Given the description of an element on the screen output the (x, y) to click on. 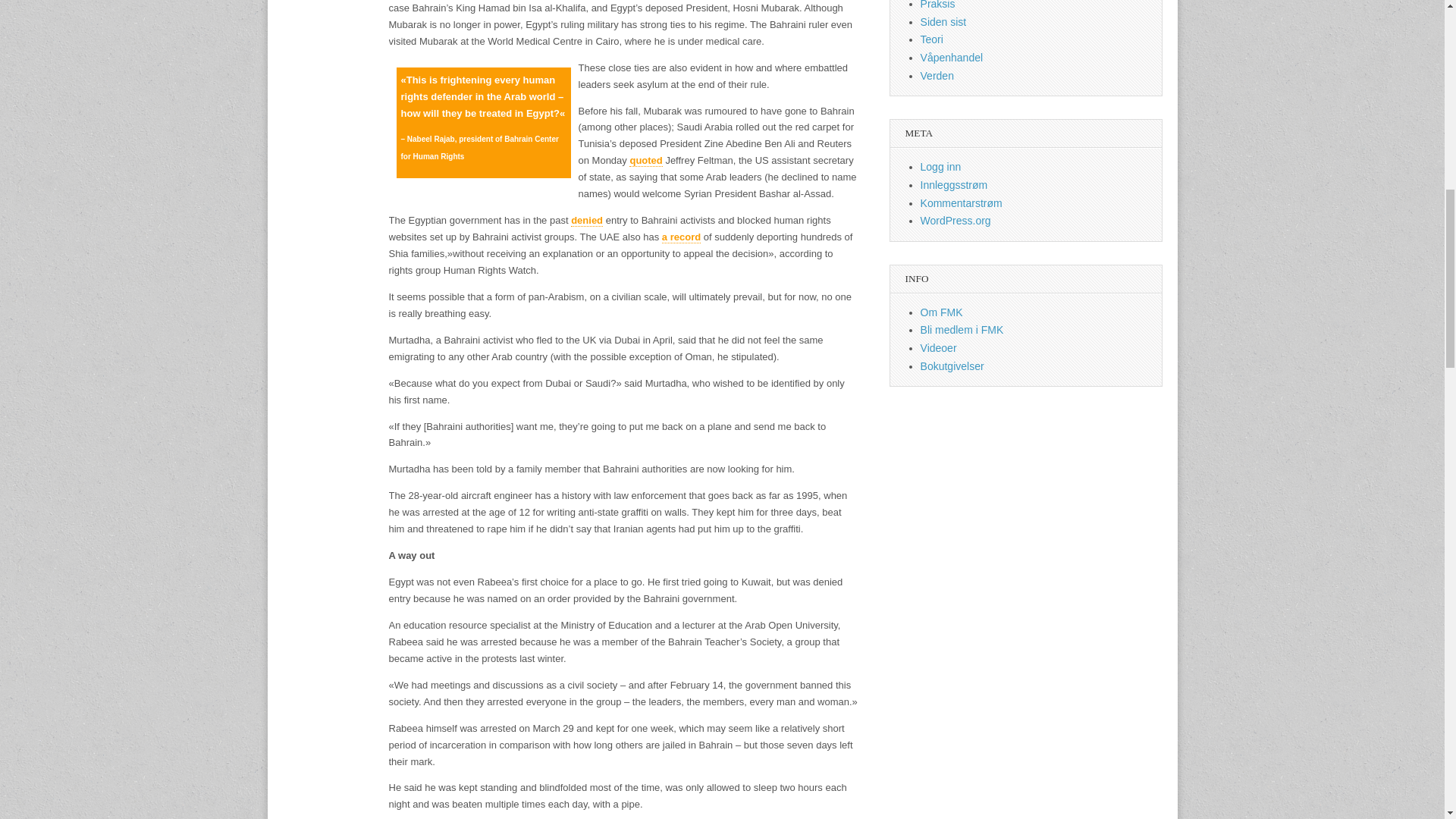
a record (681, 236)
quoted (645, 160)
denied (586, 220)
